Given the description of an element on the screen output the (x, y) to click on. 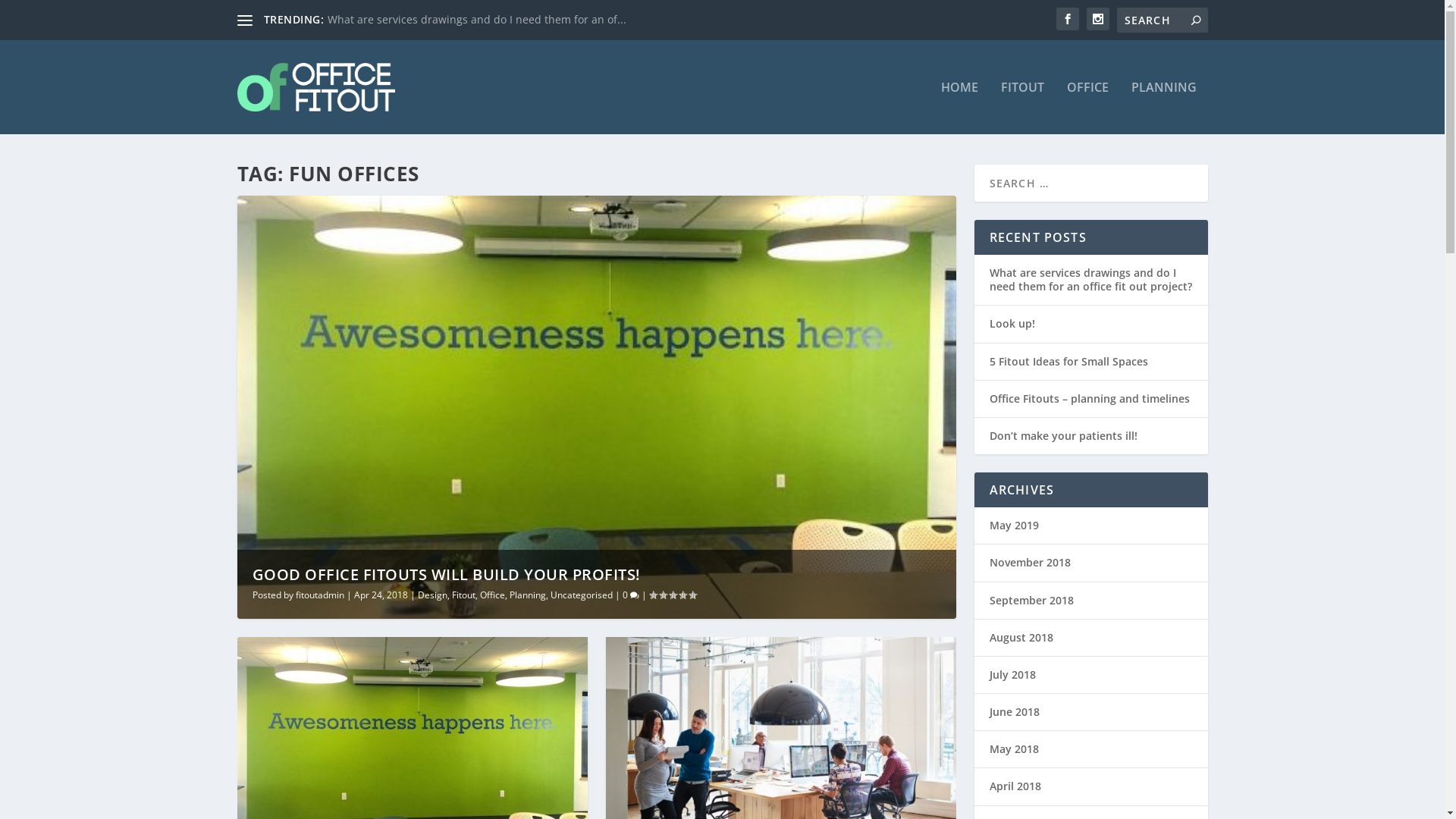
Uncategorised Element type: text (581, 594)
May 2018 Element type: text (1013, 748)
Fitout Element type: text (463, 594)
FITOUT Element type: text (1022, 107)
5 Fitout Ideas for Small Spaces Element type: text (1067, 361)
GOOD OFFICE FITOUTS WILL BUILD YOUR PROFITS! Element type: text (445, 574)
fitoutadmin Element type: text (319, 594)
November 2018 Element type: text (1029, 562)
Search for: Element type: hover (1161, 19)
What are services drawings and do I need them for an of... Element type: text (476, 19)
comment count Element type: hover (633, 595)
Design Element type: text (431, 594)
Office Element type: text (491, 594)
July 2018 Element type: text (1011, 674)
HOME Element type: text (958, 107)
Look up! Element type: text (1011, 323)
May 2019 Element type: text (1013, 524)
April 2018 Element type: text (1014, 785)
August 2018 Element type: text (1020, 637)
0 Element type: text (629, 594)
OFFICE Element type: text (1086, 107)
September 2018 Element type: text (1030, 600)
Rating: 0.00 Element type: hover (672, 594)
PLANNING Element type: text (1163, 107)
June 2018 Element type: text (1013, 711)
Search Element type: text (29, 14)
Planning Element type: text (527, 594)
